Given the description of an element on the screen output the (x, y) to click on. 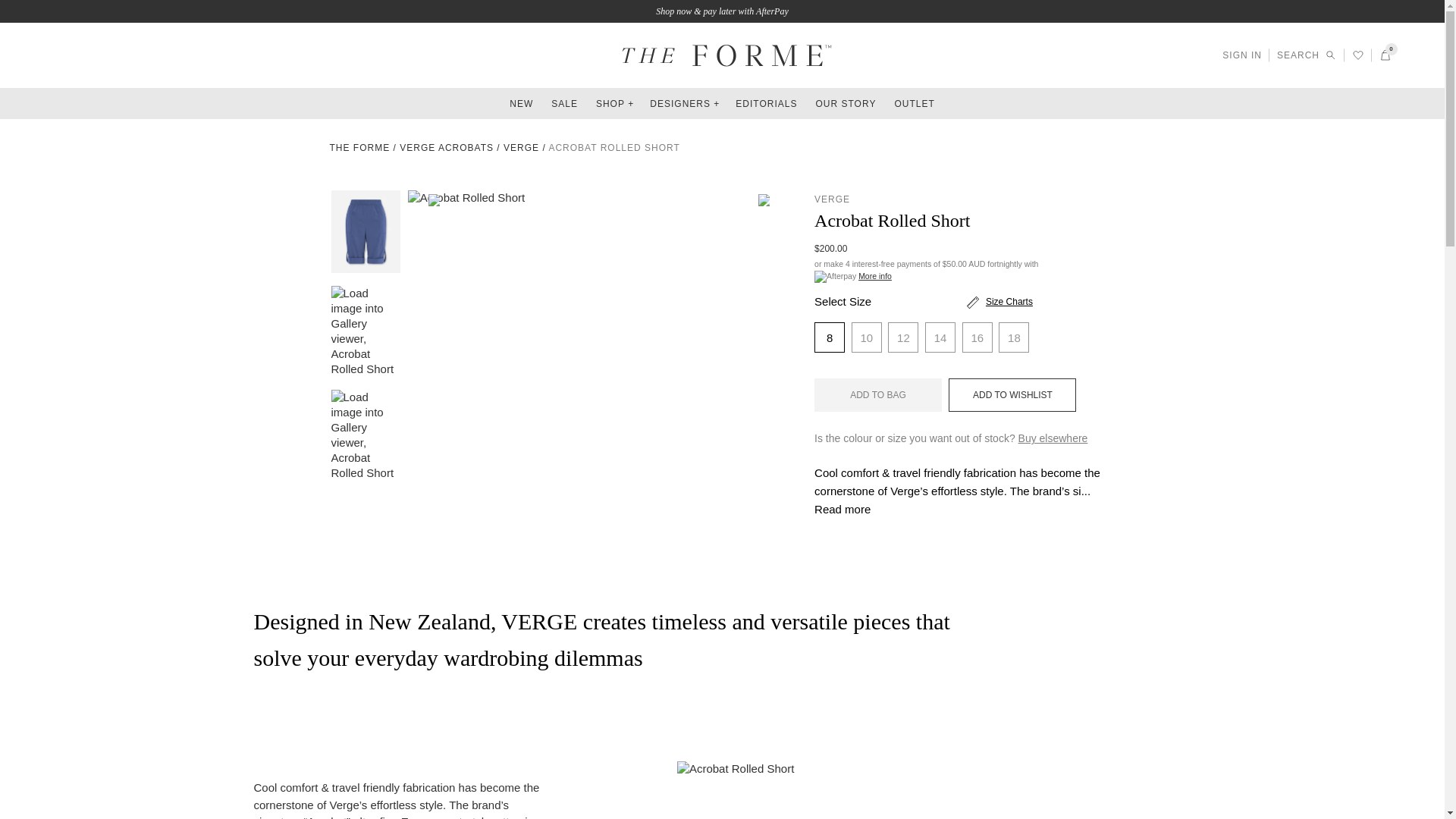
0 (1384, 55)
14 (939, 337)
18 (1013, 337)
SEARCH (1306, 55)
SIGN IN (1242, 54)
16 (977, 337)
Home (359, 147)
10 (866, 337)
12 (903, 337)
8 (828, 337)
